Given the description of an element on the screen output the (x, y) to click on. 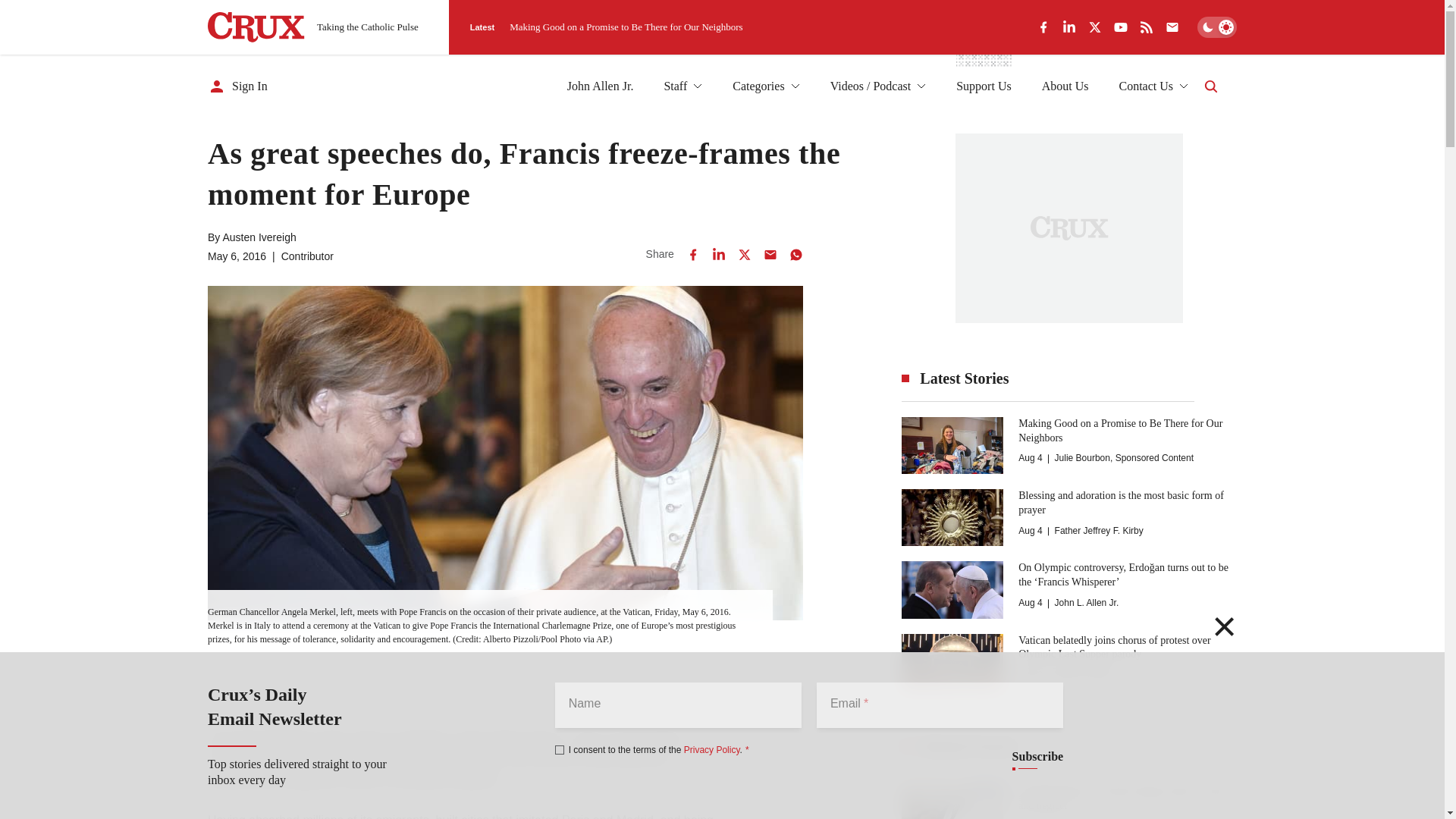
Staff (682, 85)
Sign In (237, 85)
Support Us (983, 85)
John Allen Jr. (600, 85)
Subscribe (1037, 756)
Privacy Policy (711, 749)
Categories (765, 85)
Making Good on a Promise to Be There for Our Neighbors (625, 27)
true (559, 749)
